Given the description of an element on the screen output the (x, y) to click on. 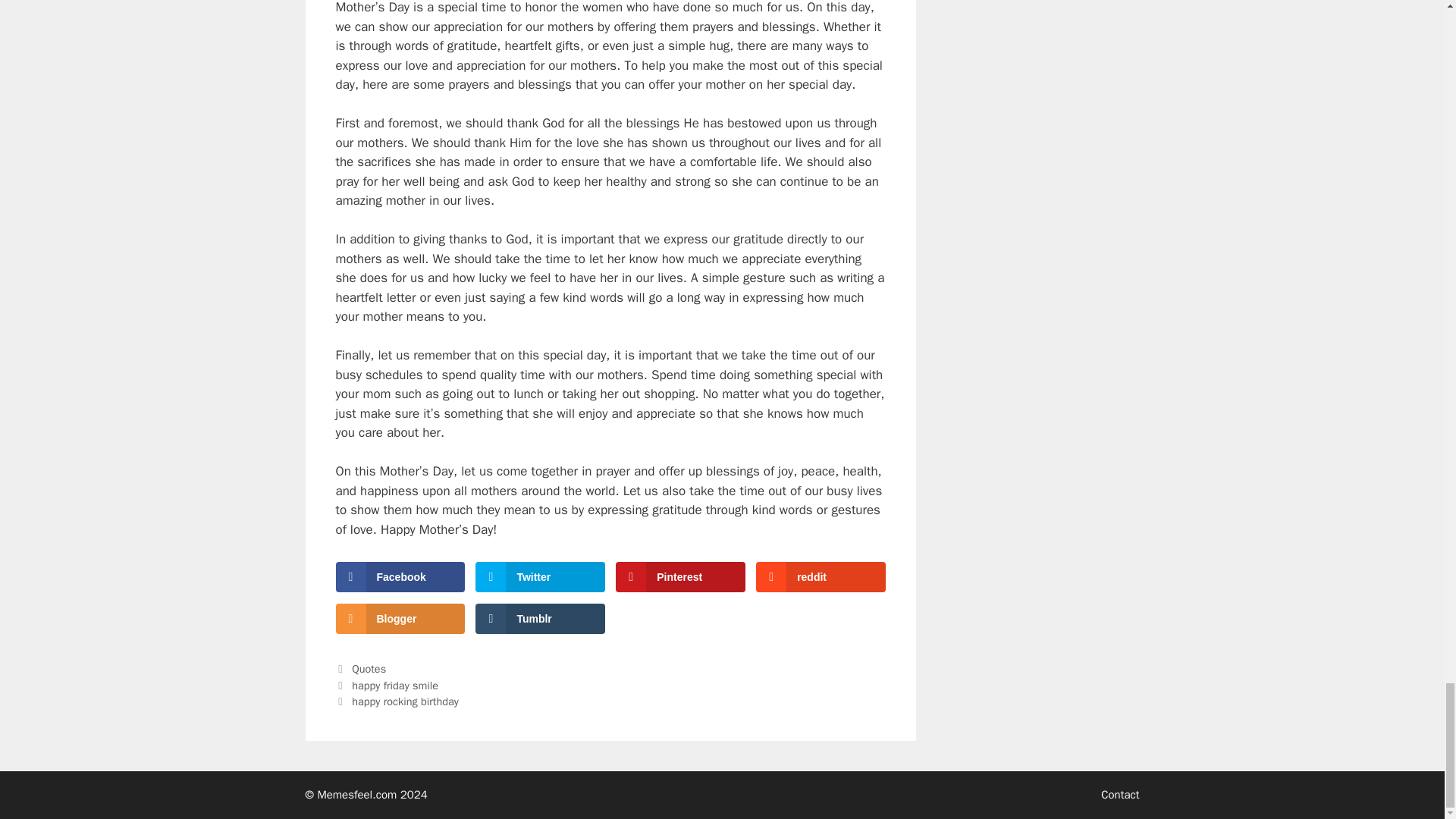
reddit (820, 576)
Facebook (399, 576)
Blogger (399, 618)
Quotes (368, 668)
Twitter (540, 576)
Pinterest (679, 576)
Tumblr (540, 618)
